Given the description of an element on the screen output the (x, y) to click on. 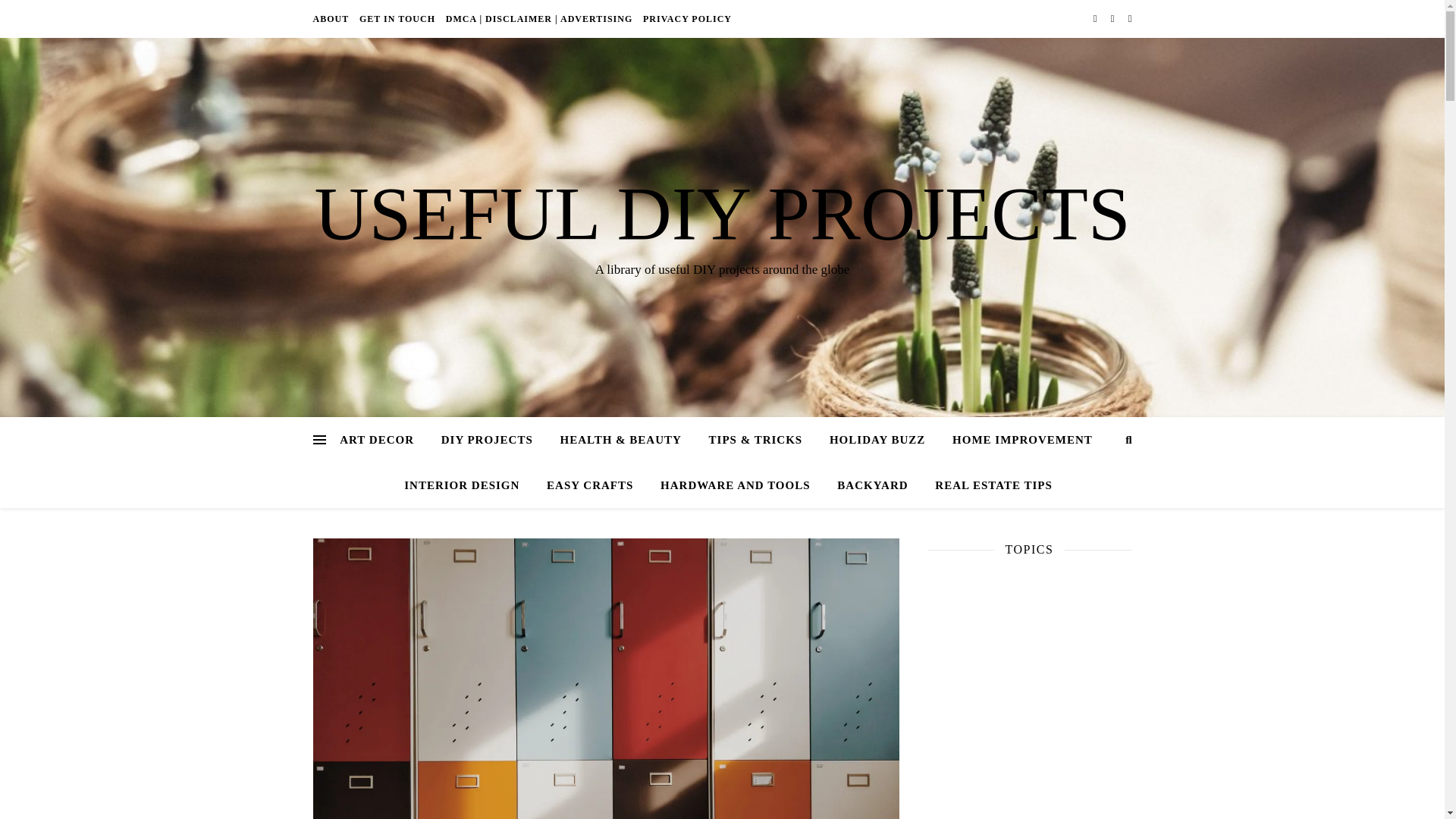
HOME IMPROVEMENT (1022, 439)
ABOUT (332, 18)
GET IN TOUCH (397, 18)
PRIVACY POLICY (685, 18)
REAL ESTATE TIPS (987, 484)
BACKYARD (872, 484)
DIY PROJECTS (486, 439)
INTERIOR DESIGN (461, 484)
HARDWARE AND TOOLS (734, 484)
EASY CRAFTS (589, 484)
